Given the description of an element on the screen output the (x, y) to click on. 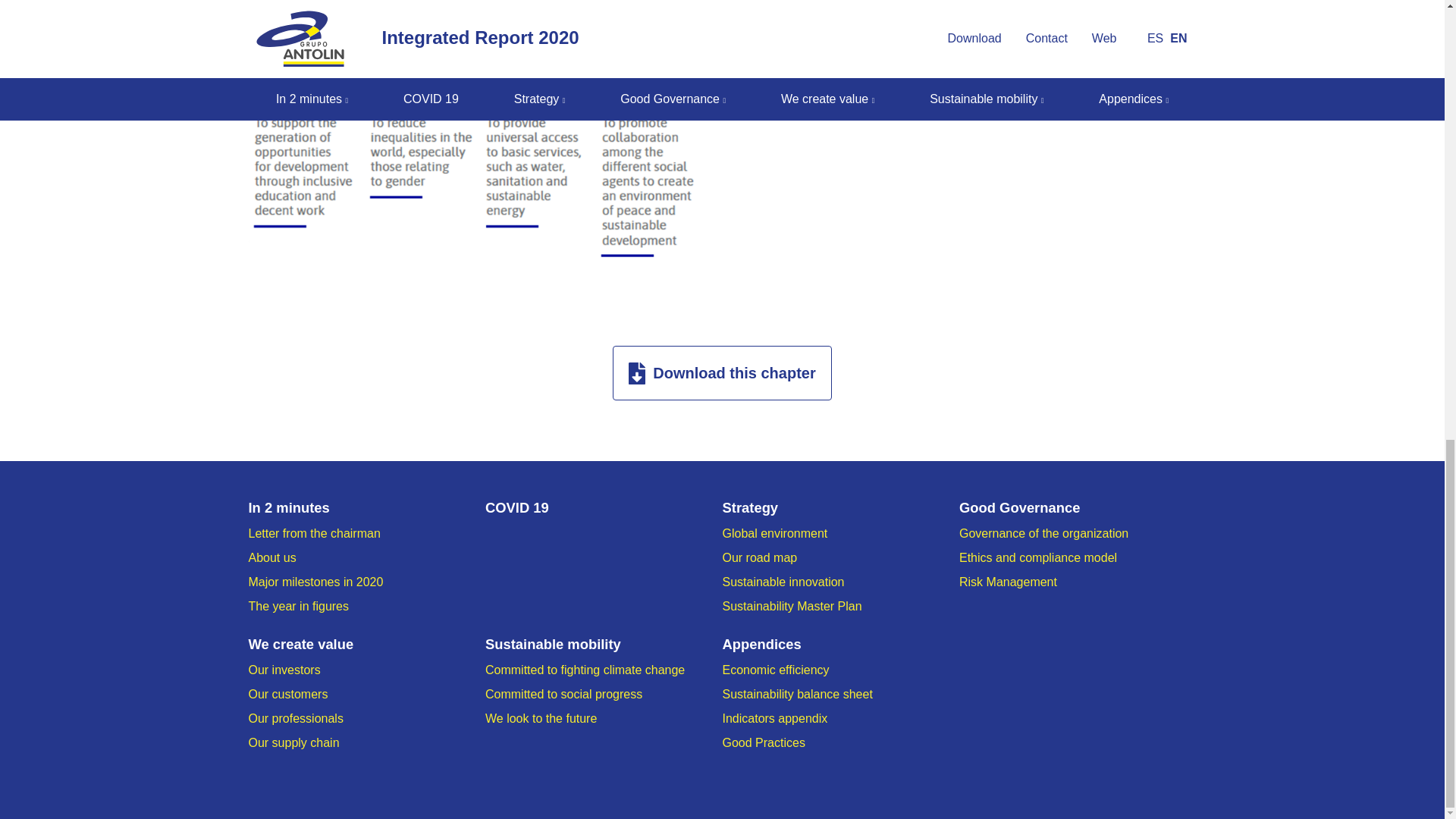
Letter from the chairman (314, 533)
About us (272, 557)
In 2 minutes (367, 507)
Download this chapter (721, 372)
